Given the description of an element on the screen output the (x, y) to click on. 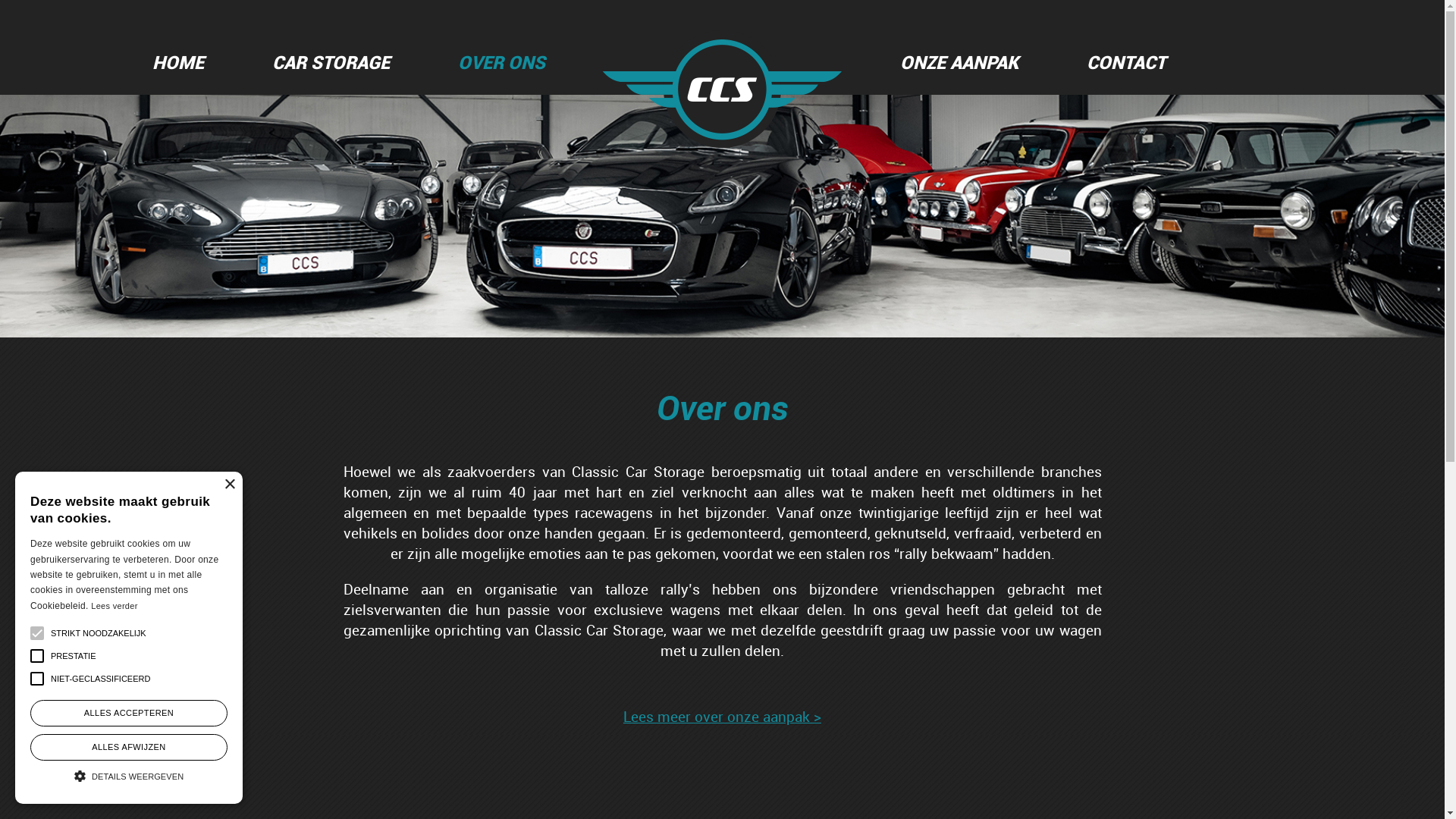
CAR STORAGE Element type: text (330, 62)
Lees verder Element type: text (114, 605)
OVER ONS Element type: text (500, 62)
HOME Element type: text (178, 62)
Lees meer over onze aanpak > Element type: text (722, 716)
CONTACT Element type: text (1125, 62)
ONZE AANPAK Element type: text (959, 62)
